Given the description of an element on the screen output the (x, y) to click on. 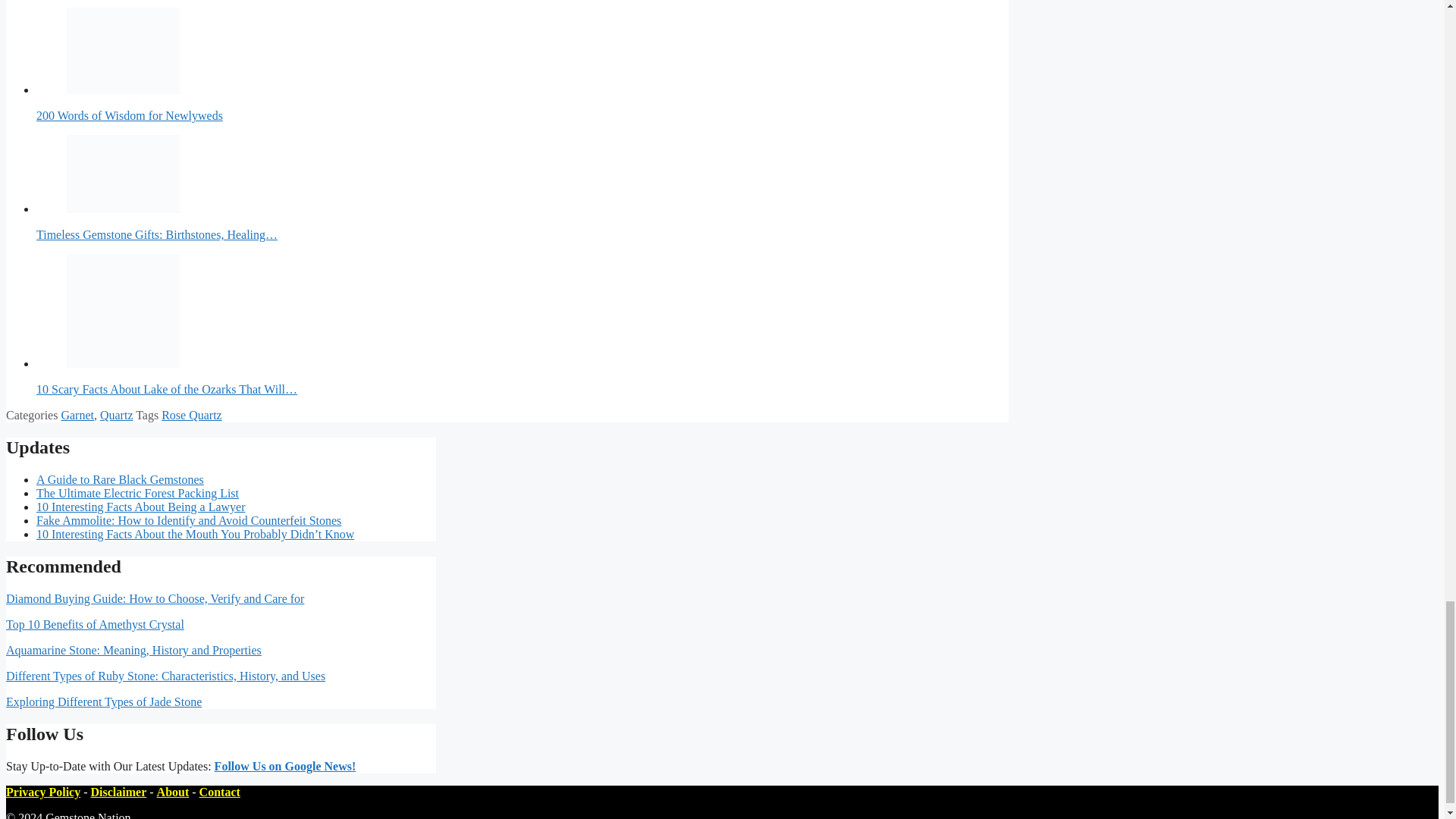
200 Words of Wisdom for Newlyweds (123, 50)
